Given the description of an element on the screen output the (x, y) to click on. 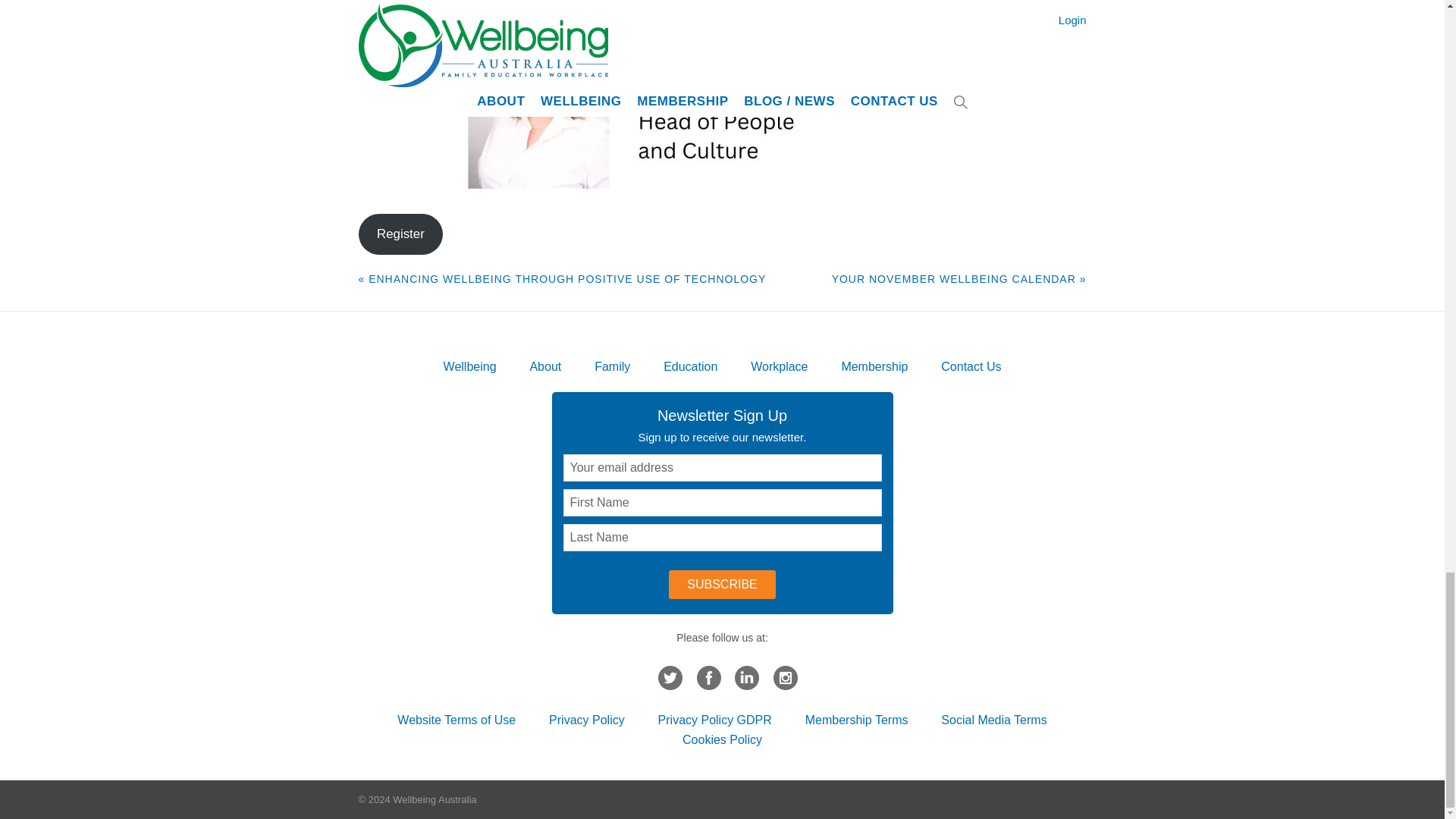
Workplace (779, 366)
Education (690, 366)
Membership (874, 366)
Register (400, 233)
Wellbeing (470, 366)
Contact Us (970, 366)
Website Terms of Use (456, 719)
About (544, 366)
Cookies Policy (721, 739)
Privacy Policy (586, 719)
Family (612, 366)
SUBSCRIBE (721, 584)
SUBSCRIBE (721, 584)
Social Media Terms (993, 719)
Privacy Policy GDPR (714, 719)
